Given the description of an element on the screen output the (x, y) to click on. 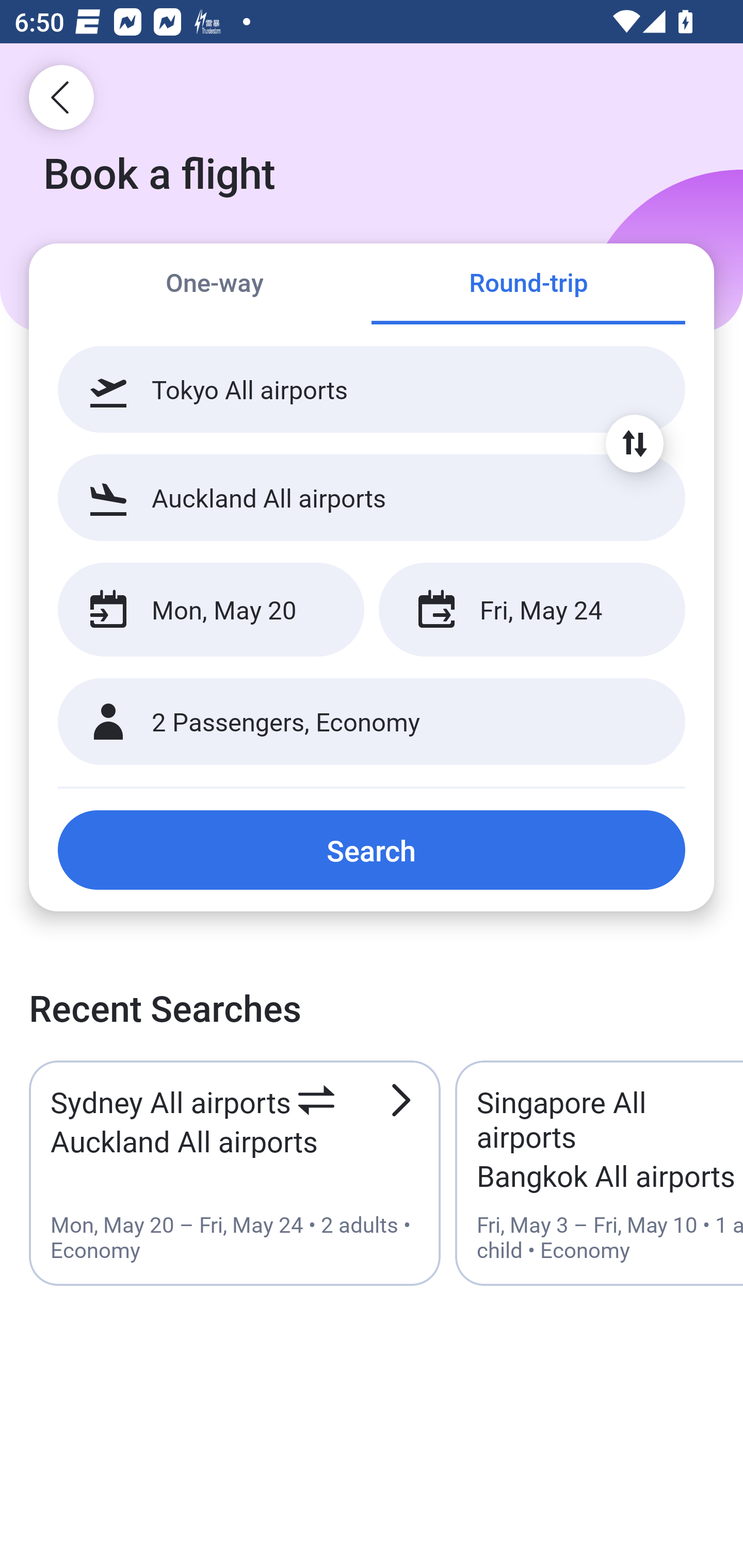
One-way (214, 284)
Tokyo All airports (371, 389)
Auckland All airports (371, 497)
Mon, May 20 (210, 609)
Fri, May 24 (531, 609)
2 Passengers, Economy (371, 721)
Search (371, 849)
